Given the description of an element on the screen output the (x, y) to click on. 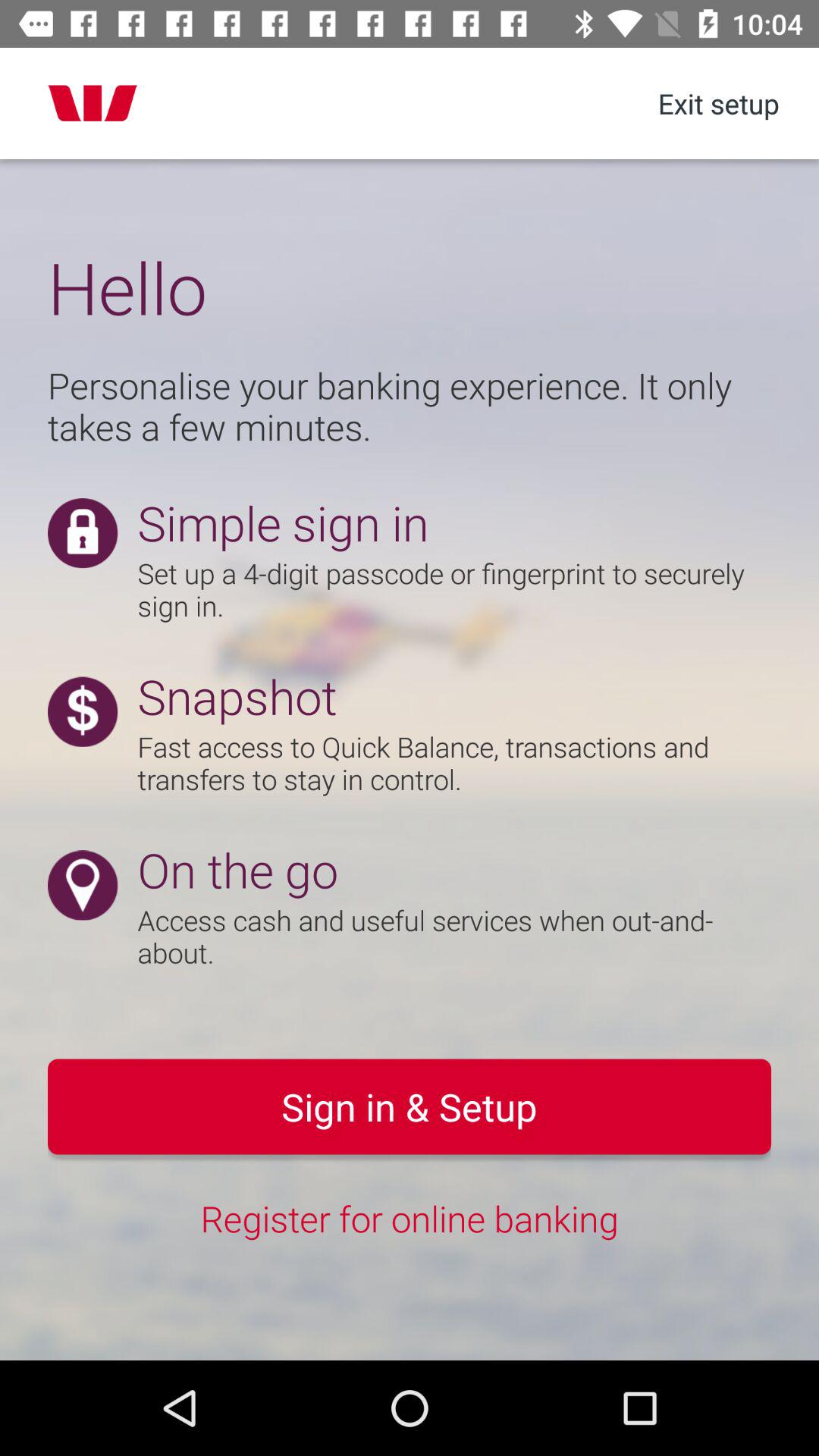
icon before snapshot text (82, 711)
click on red button at the bottom (409, 1106)
select the location icon below snapshot (82, 885)
select the lock icon to the left side of the simple sign in (82, 532)
